Given the description of an element on the screen output the (x, y) to click on. 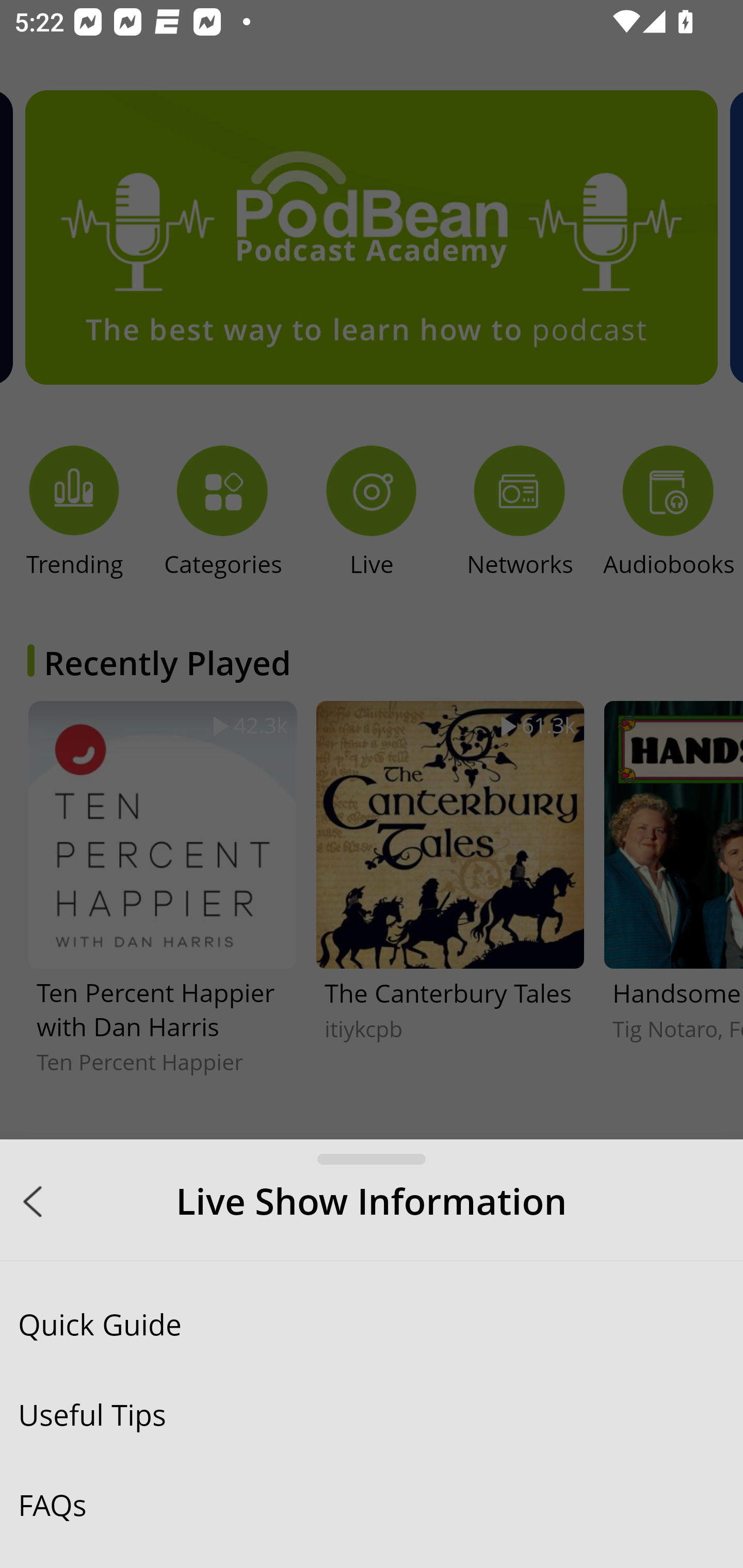
Quick Guide (371, 1323)
Useful Tips (371, 1413)
FAQs (371, 1504)
